Given the description of an element on the screen output the (x, y) to click on. 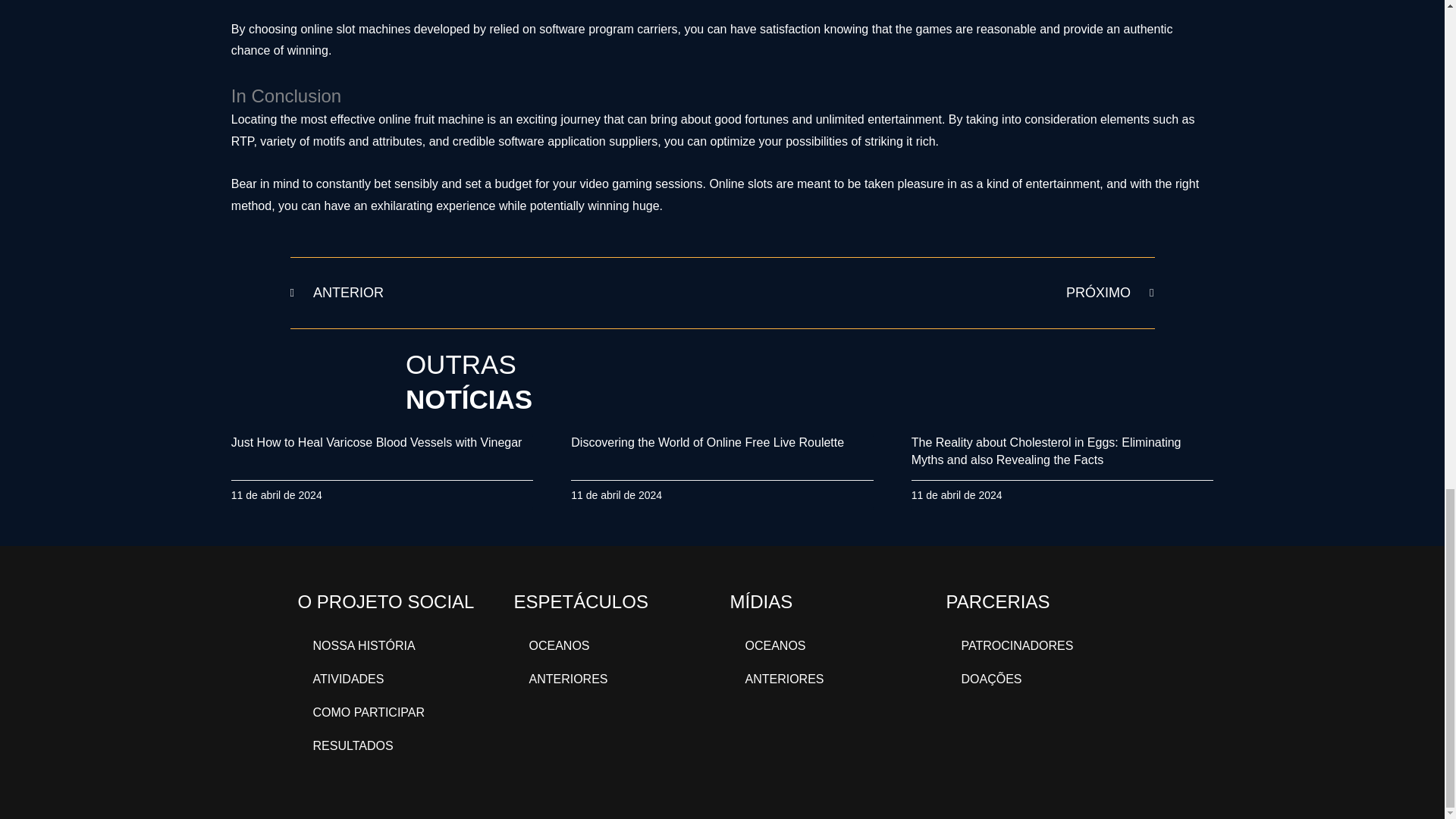
Discovering the World of Online Free Live Roulette (707, 441)
Just How to Heal Varicose Blood Vessels with Vinegar (505, 292)
ATIVIDADES (376, 441)
COMO PARTICIPAR (397, 678)
